Given the description of an element on the screen output the (x, y) to click on. 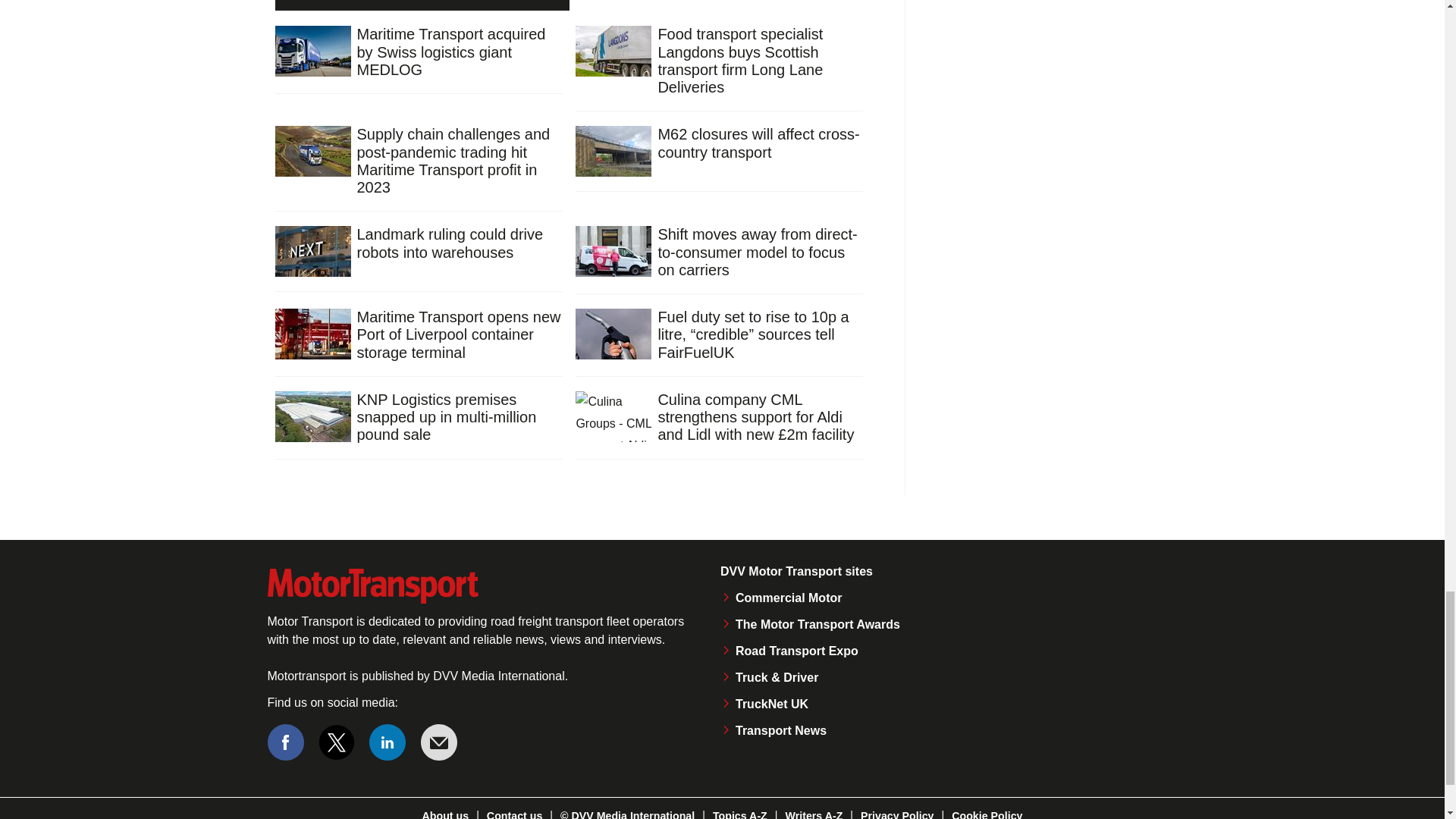
Email us (438, 741)
Connect with us on Linked in (387, 741)
Connect with us on Facebook (284, 741)
Connect with us on Twitter (336, 741)
